Given the description of an element on the screen output the (x, y) to click on. 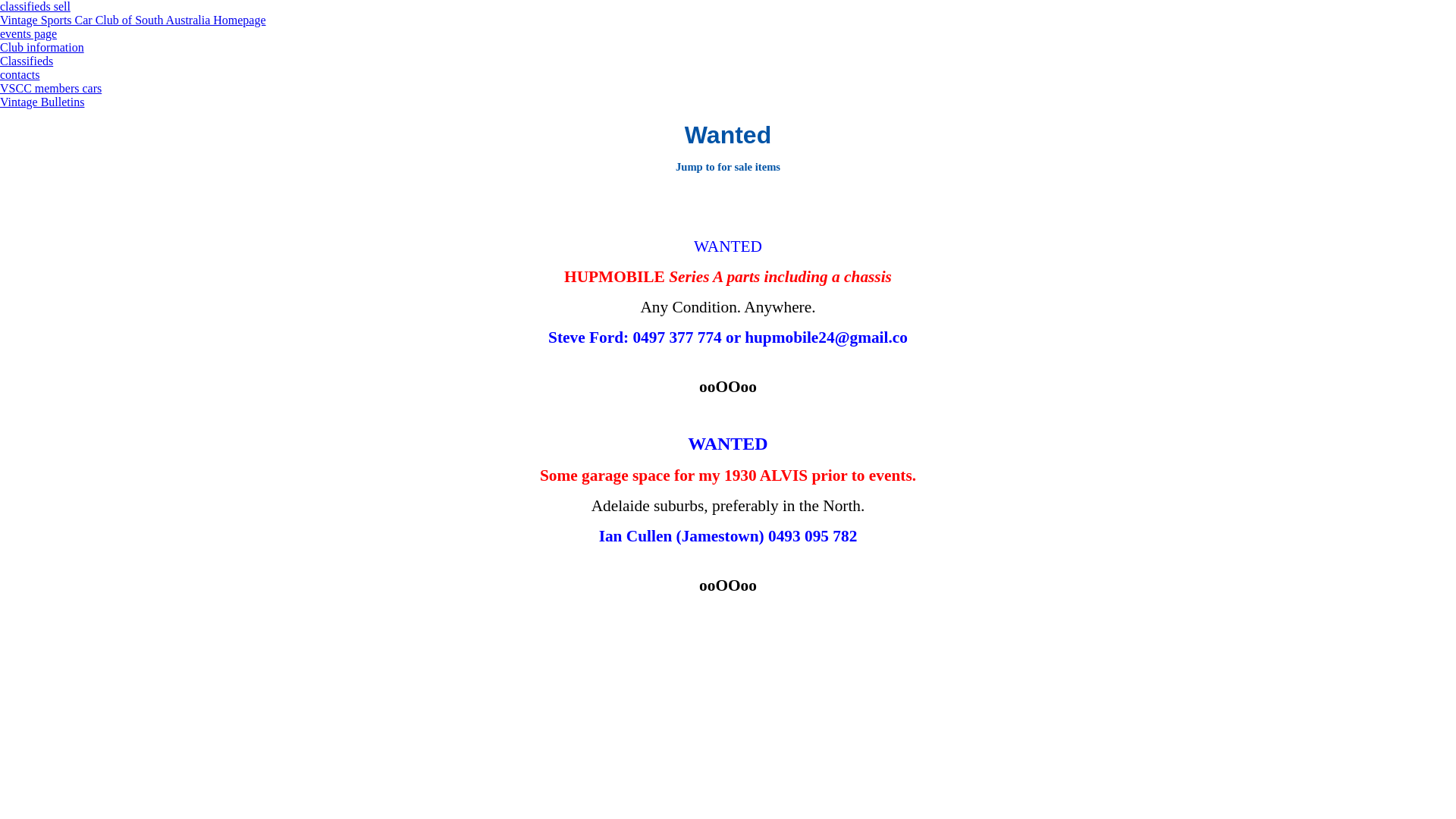
classifieds sell Element type: text (35, 6)
Vintage Sports Car Club of South Australia Homepage Element type: text (133, 19)
Classifieds Element type: text (26, 60)
contacts Element type: text (19, 74)
VSCC members cars Element type: text (50, 87)
Vintage Bulletins Element type: text (42, 101)
Club information Element type: text (42, 46)
events page Element type: text (28, 33)
